Given the description of an element on the screen output the (x, y) to click on. 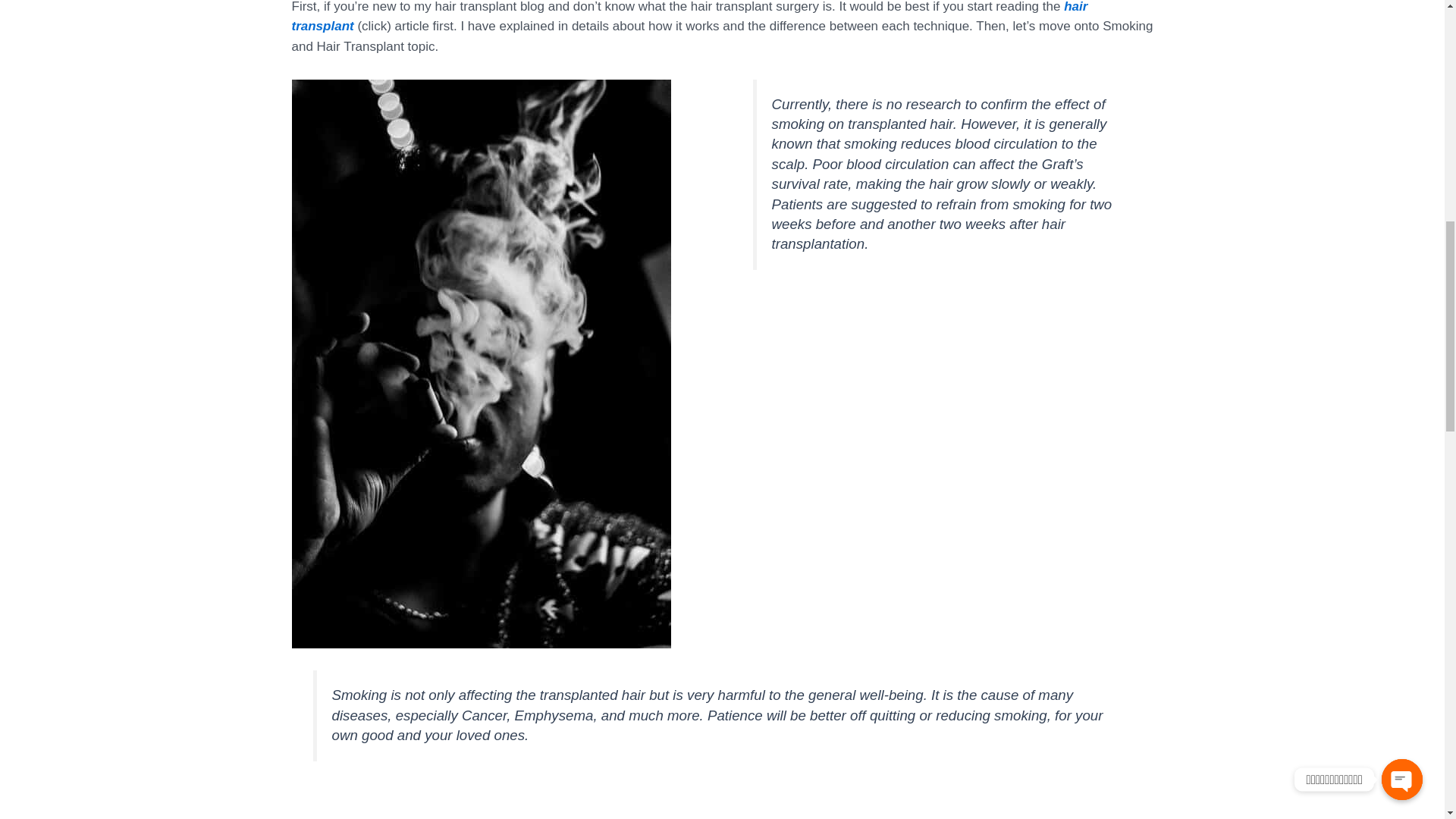
SMOKING AND HAIR TRANSPLANT 2 (722, 800)
hair transplant (689, 16)
